Given the description of an element on the screen output the (x, y) to click on. 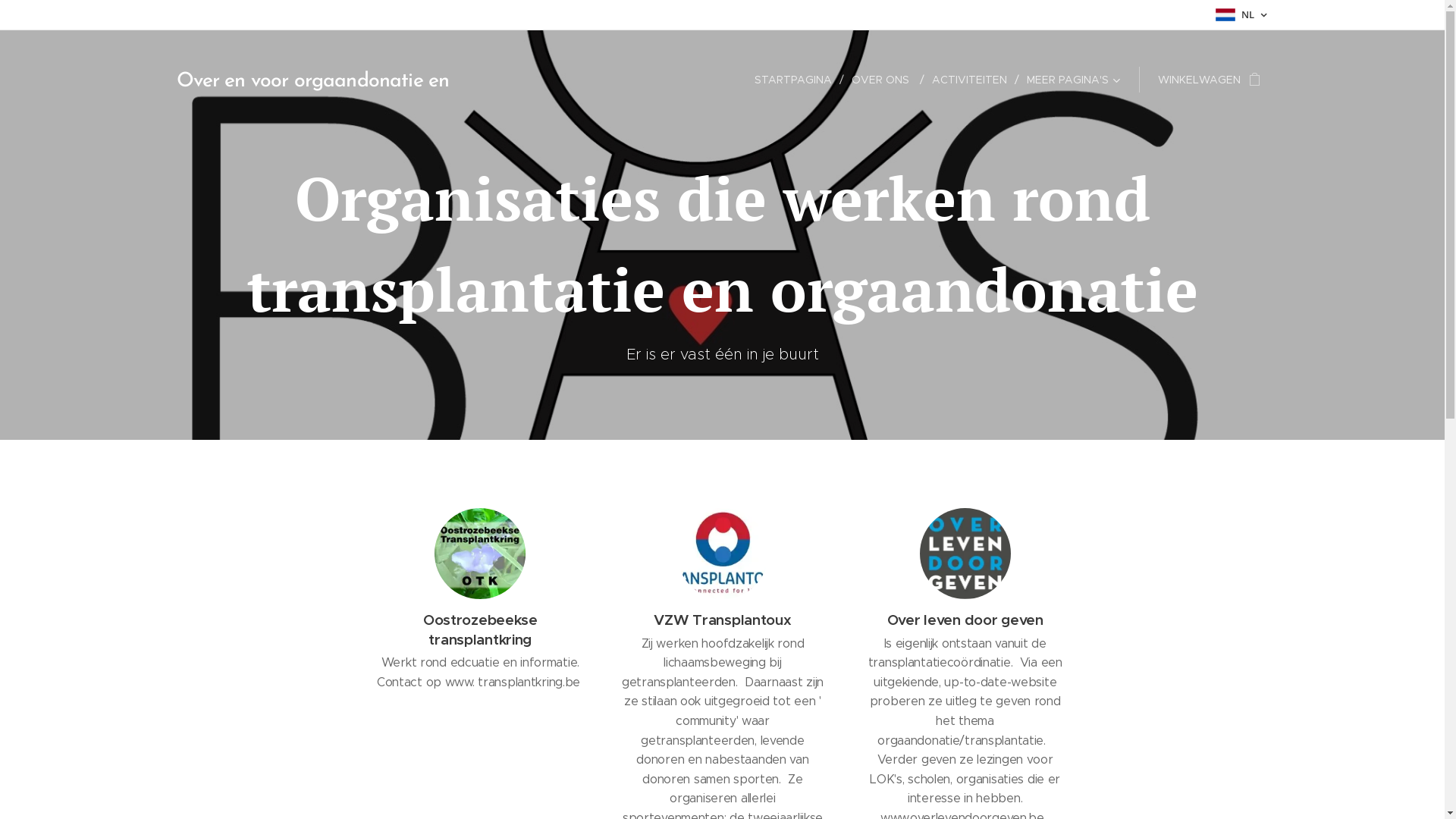
OVER ONS Element type: text (883, 79)
MEER PAGINA'S Element type: text (1069, 79)
WINKELWAGEN Element type: text (1203, 79)
ACTIVITEITEN Element type: text (970, 79)
STARTPAGINA Element type: text (797, 79)
Over en voor orgaandonatie en  transplantatie Element type: text (335, 79)
